Given the description of an element on the screen output the (x, y) to click on. 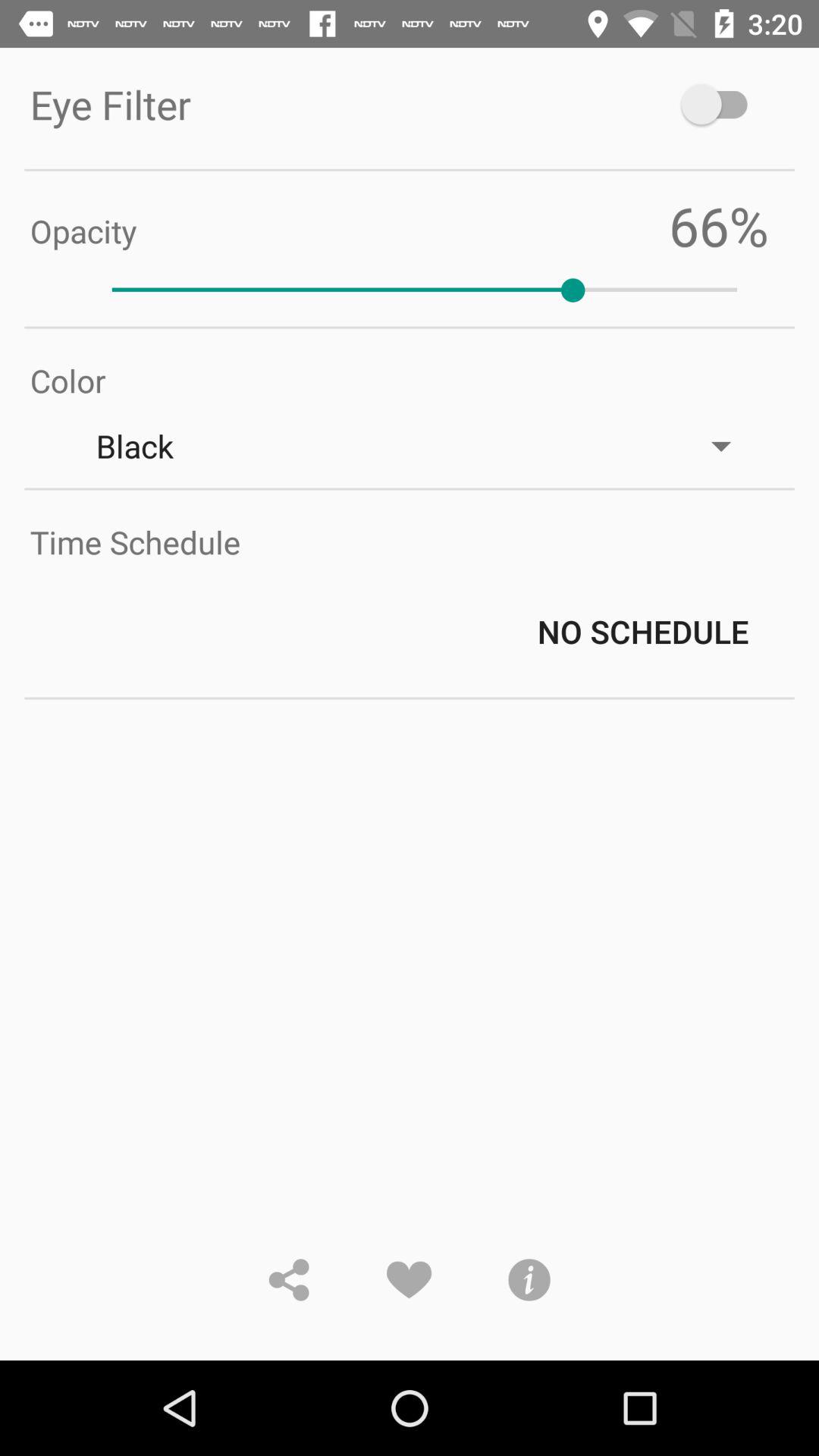
eye filter toggle (721, 104)
